Given the description of an element on the screen output the (x, y) to click on. 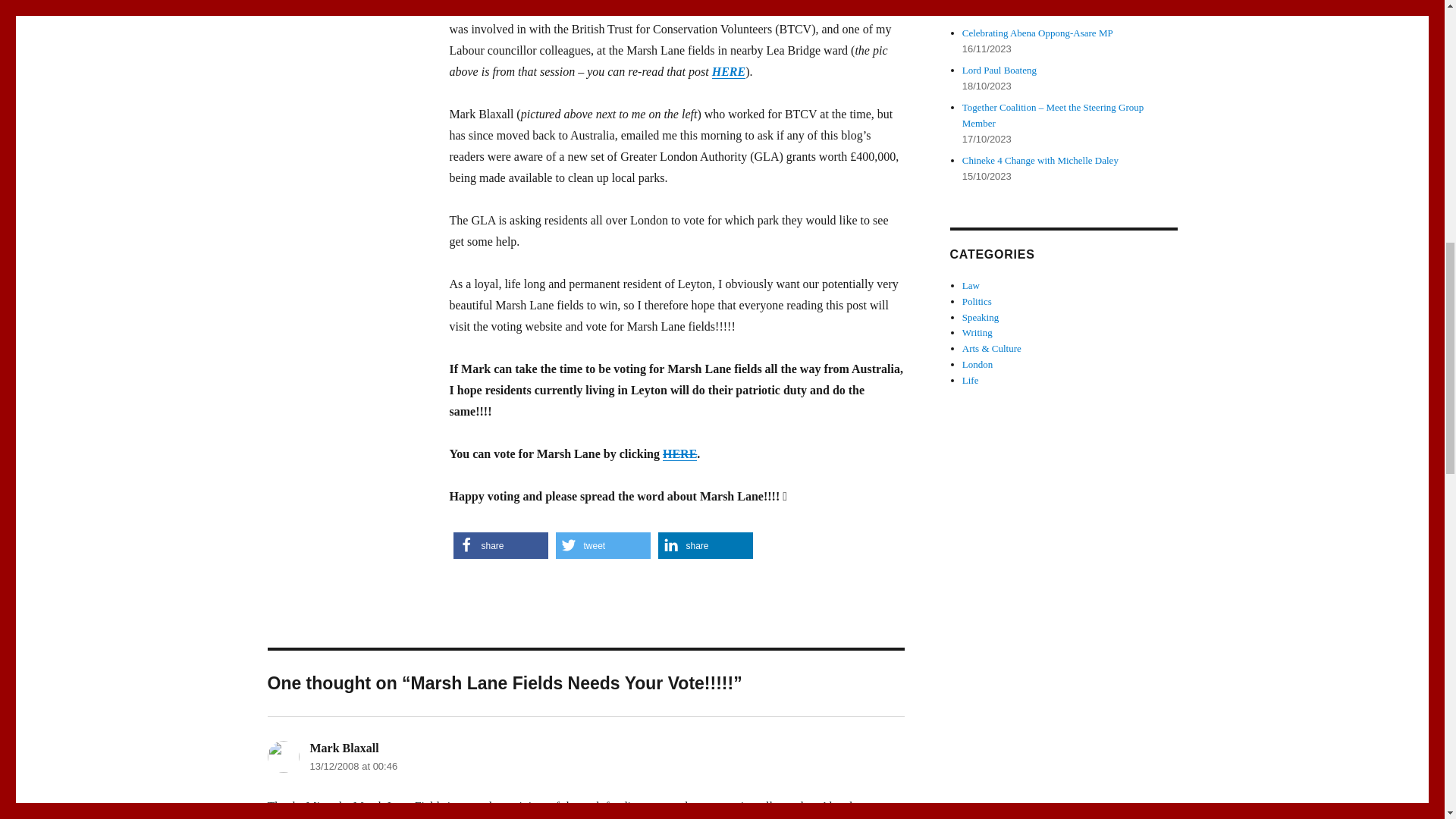
Chineke 4 Change with Michelle Daley (1040, 160)
Share on Twitter (601, 545)
London (977, 364)
tweet  (601, 545)
Politics (976, 301)
Law (970, 285)
Celebrating Abena Oppong-Asare MP (1037, 32)
HERE (728, 71)
Share on Facebook (500, 545)
HERE (679, 453)
